Given the description of an element on the screen output the (x, y) to click on. 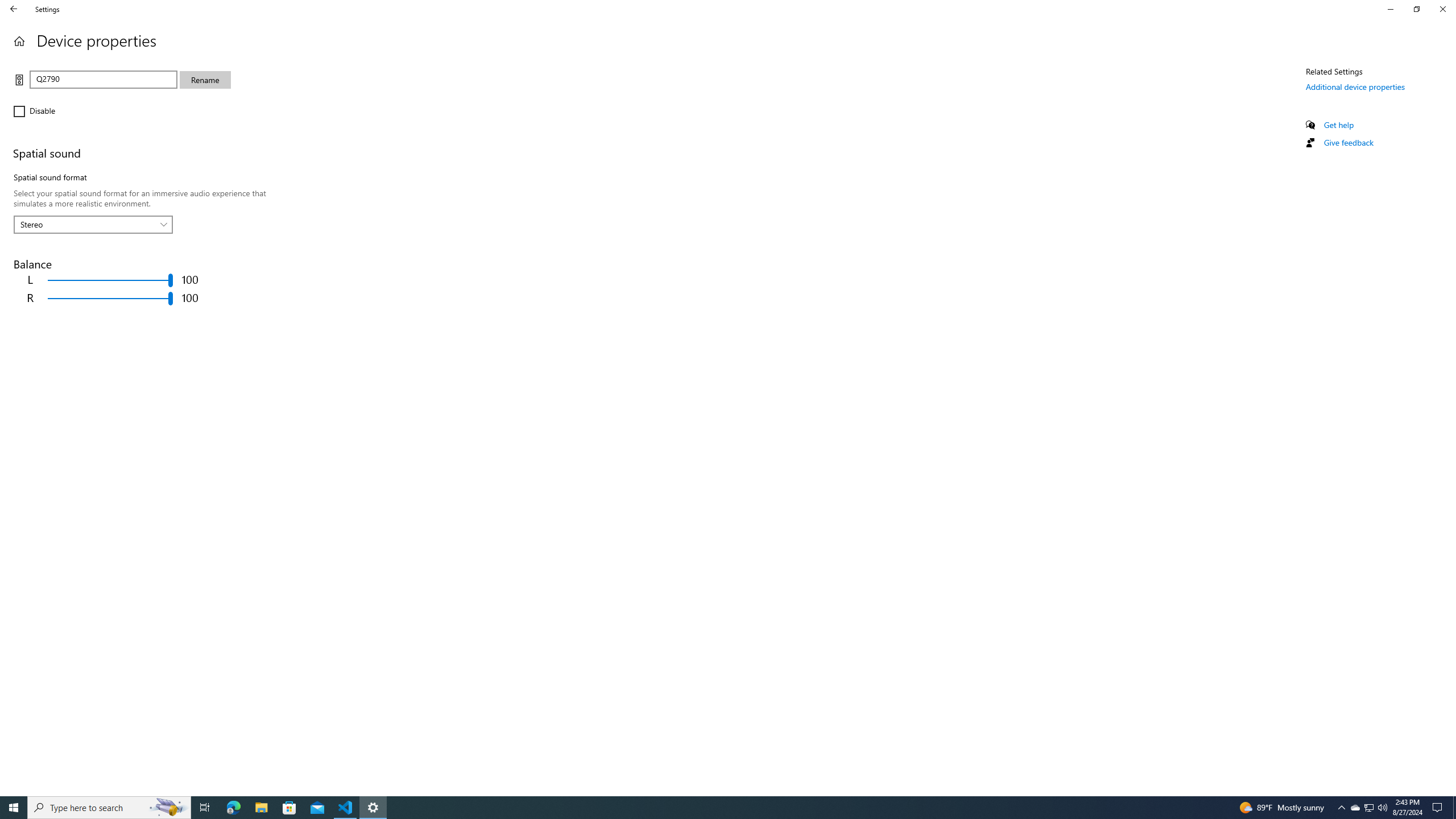
Rename (205, 79)
Give feedback (1348, 142)
Disable (47, 111)
Adjust left audio balance (110, 280)
